Given the description of an element on the screen output the (x, y) to click on. 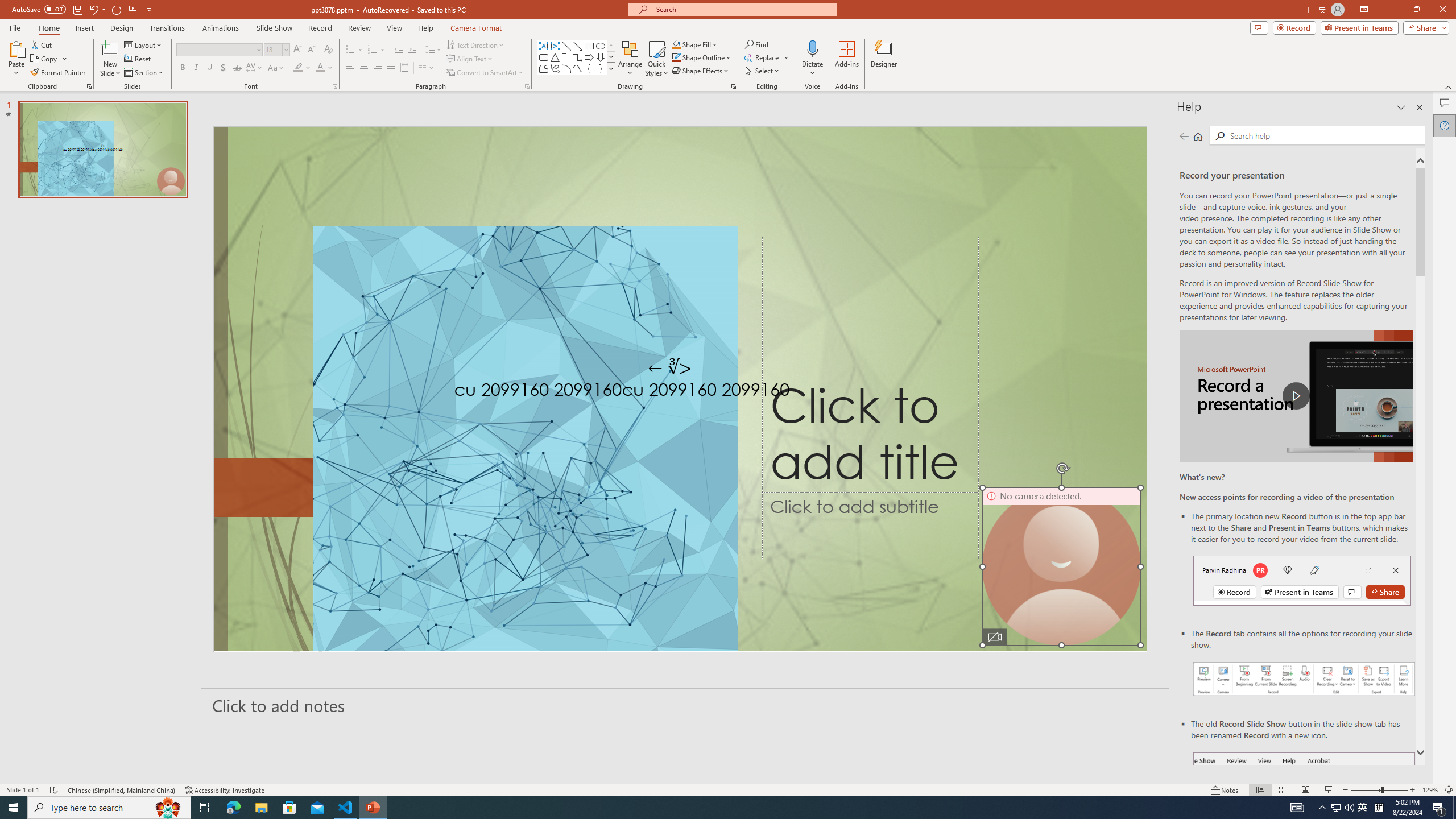
Zoom 129% (1430, 790)
An abstract genetic concept (680, 388)
Shape Outline Green, Accent 1 (675, 56)
